Given the description of an element on the screen output the (x, y) to click on. 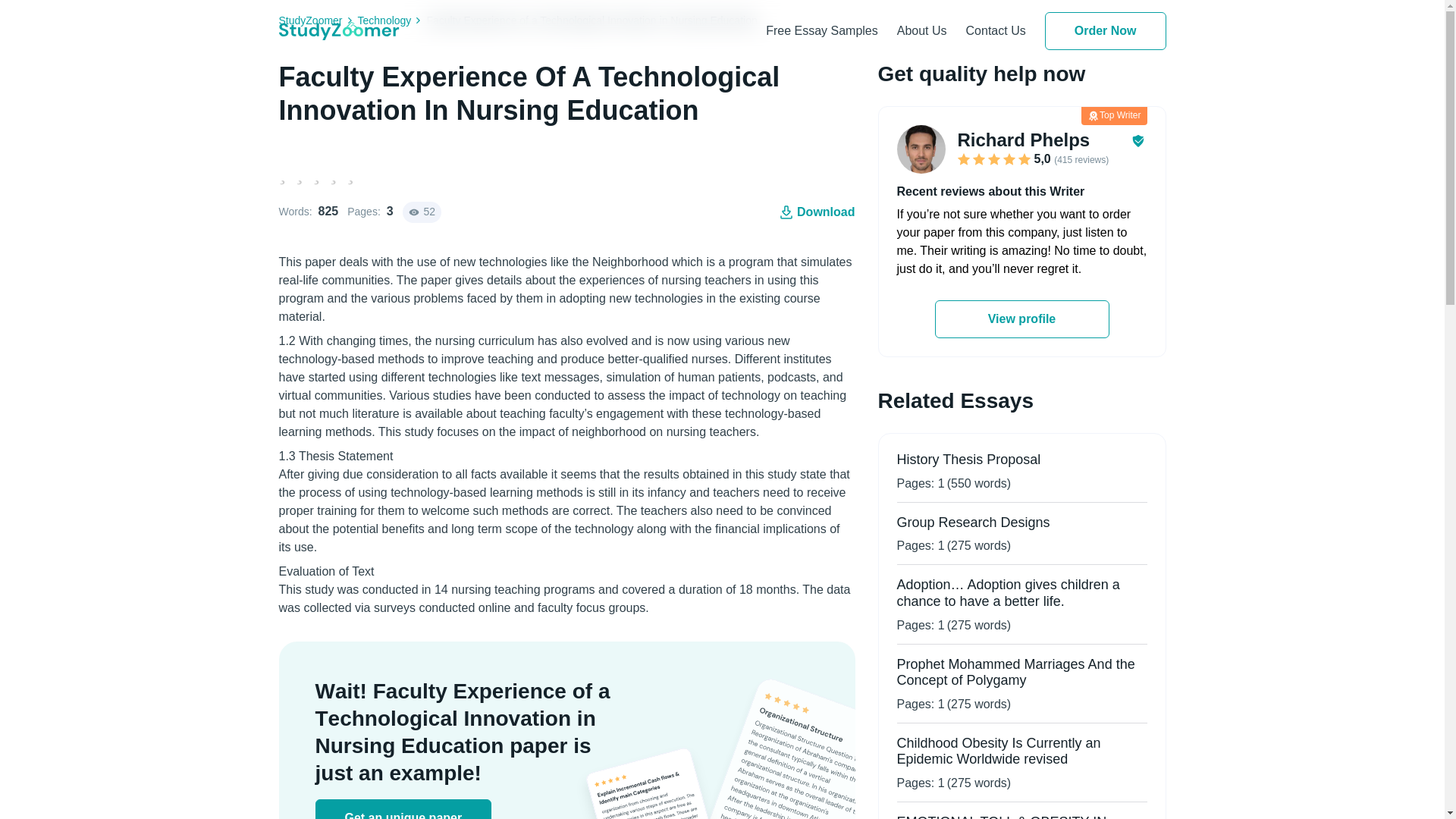
View profile (1021, 319)
About Us (921, 31)
History Thesis Proposal (968, 459)
Order Now (1105, 30)
StudyZoomer (318, 20)
Prophet Mohammed Marriages And the Concept of Polygamy (1015, 672)
Order Now (1105, 30)
StudyZoomer (318, 20)
Get an unique paper (403, 809)
Technology (392, 20)
Free Essay Samples (821, 31)
Group Research Designs (972, 522)
Contact Us (996, 31)
Childhood Obesity Is Currently an Epidemic Worldwide revised (998, 751)
Study Zoomer (338, 31)
